Given the description of an element on the screen output the (x, y) to click on. 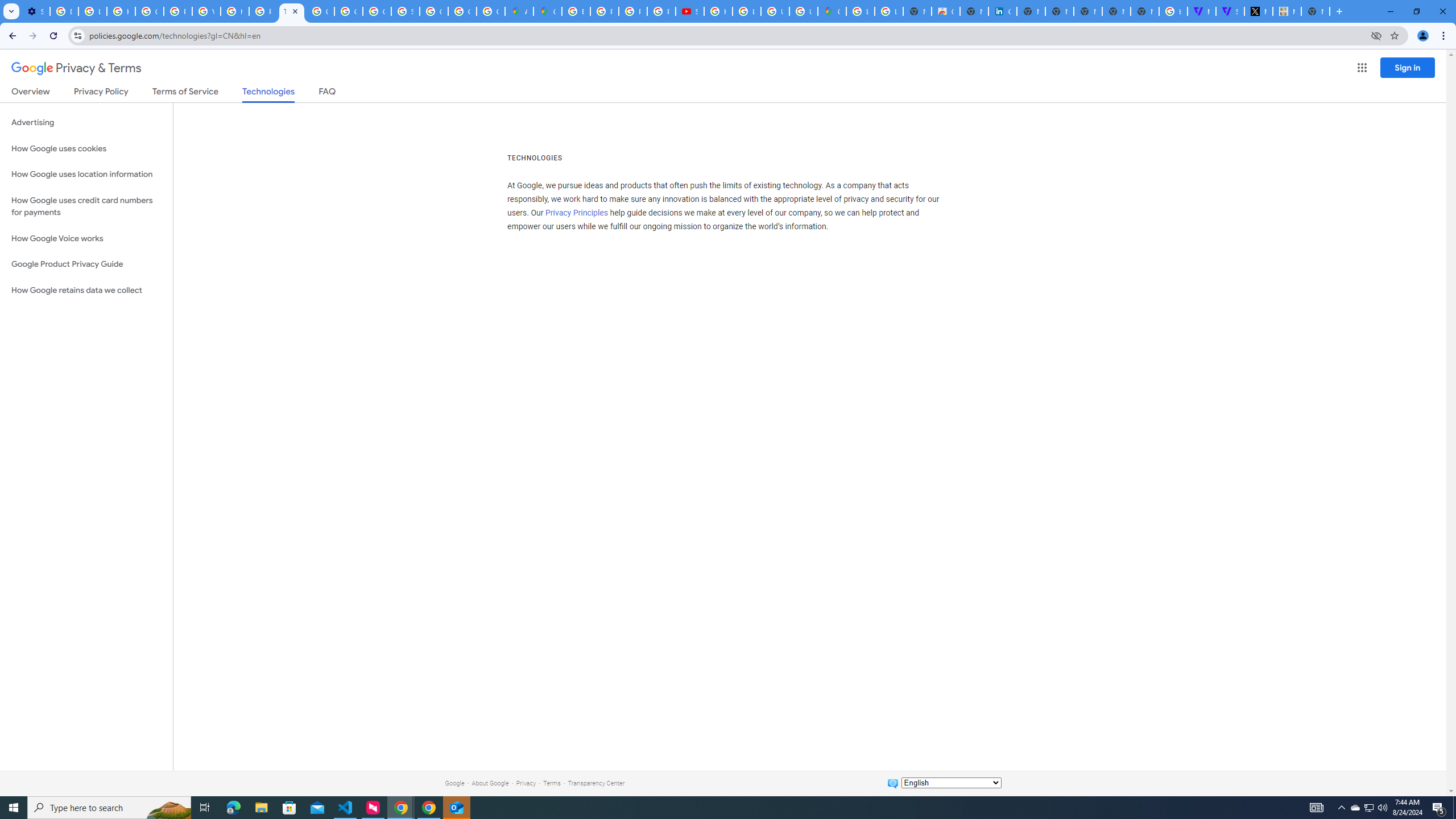
How Google retains data we collect (86, 289)
How Chrome protects your passwords - Google Chrome Help (718, 11)
Change language: (951, 782)
Miley Cyrus (@MileyCyrus) / X (1258, 11)
Learn how to find your photos - Google Photos Help (92, 11)
Streaming - The Verge (1230, 11)
Google Account Help (148, 11)
Settings - Customize profile (35, 11)
